Given the description of an element on the screen output the (x, y) to click on. 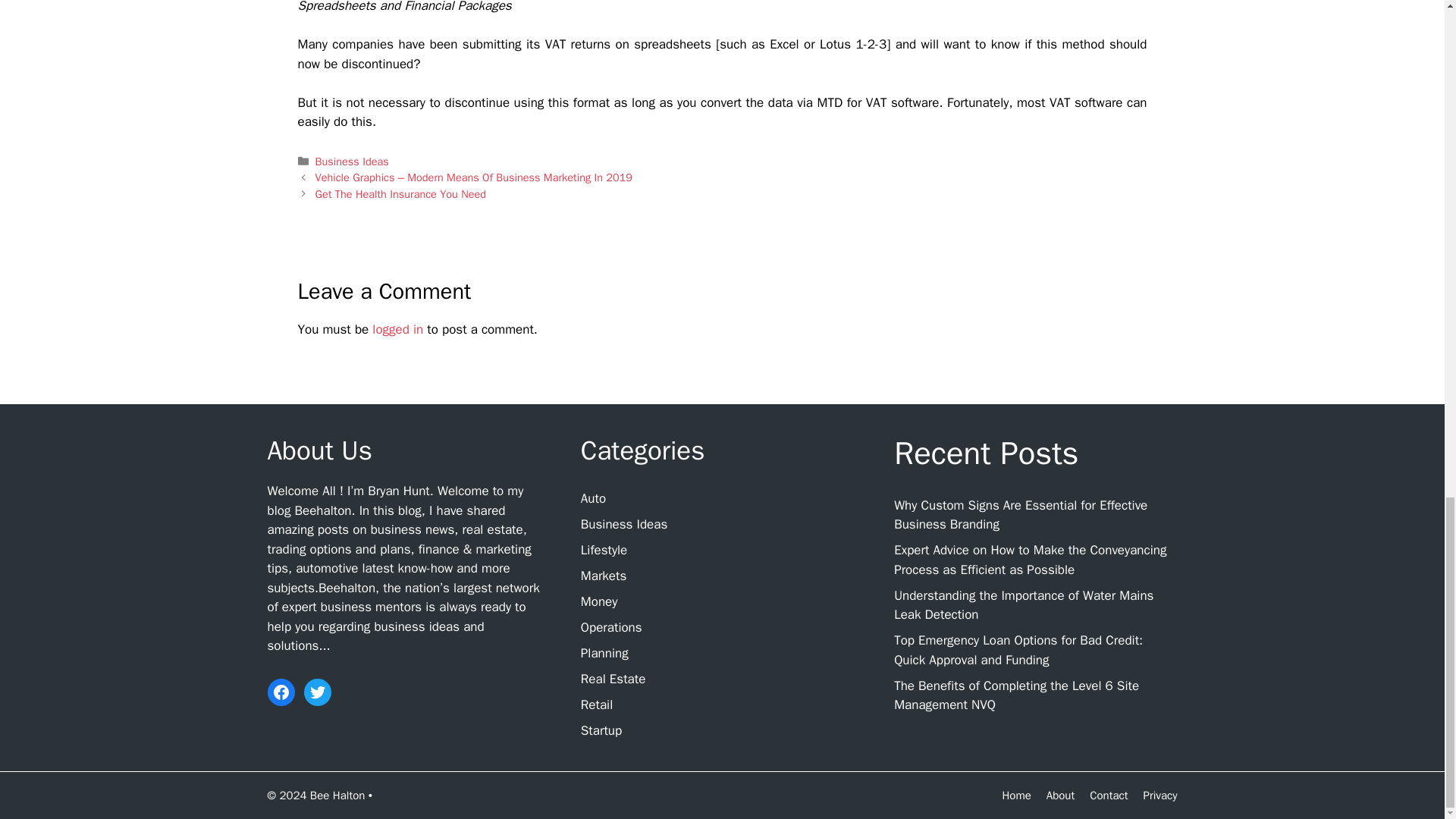
Retail (596, 704)
Get The Health Insurance You Need (400, 193)
Planning (604, 652)
Facebook (280, 691)
Business Ideas (623, 524)
Operations (611, 627)
Understanding the Importance of Water Mains Leak Detection (1023, 605)
Twitter (316, 691)
